Given the description of an element on the screen output the (x, y) to click on. 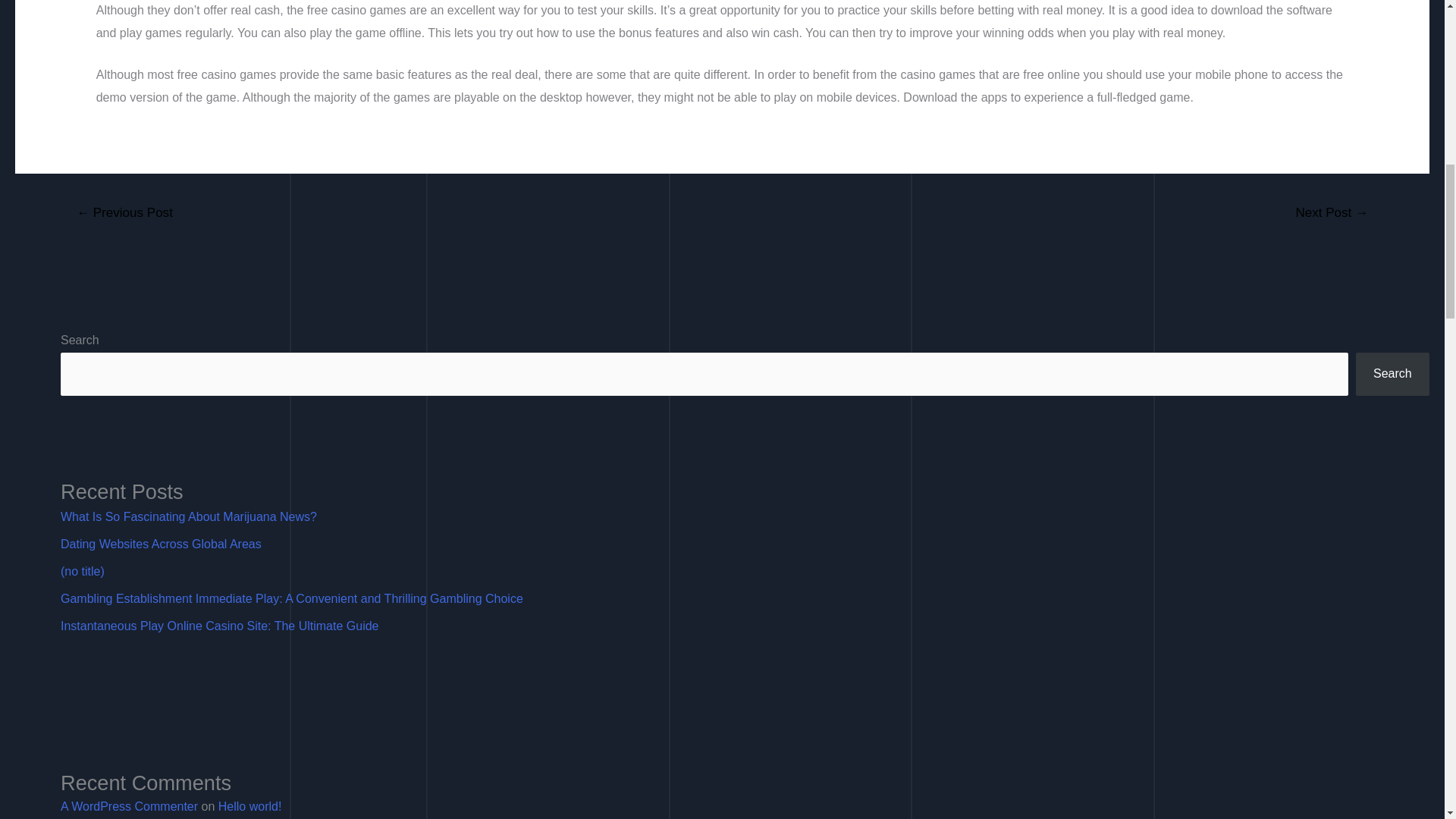
What Is So Fascinating About Marijuana News? (189, 516)
Dating Websites Across Global Areas (161, 543)
Hello world! (250, 806)
Instantaneous Play Online Casino Site: The Ultimate Guide (219, 625)
Search (1392, 373)
A WordPress Commenter (129, 806)
